Given the description of an element on the screen output the (x, y) to click on. 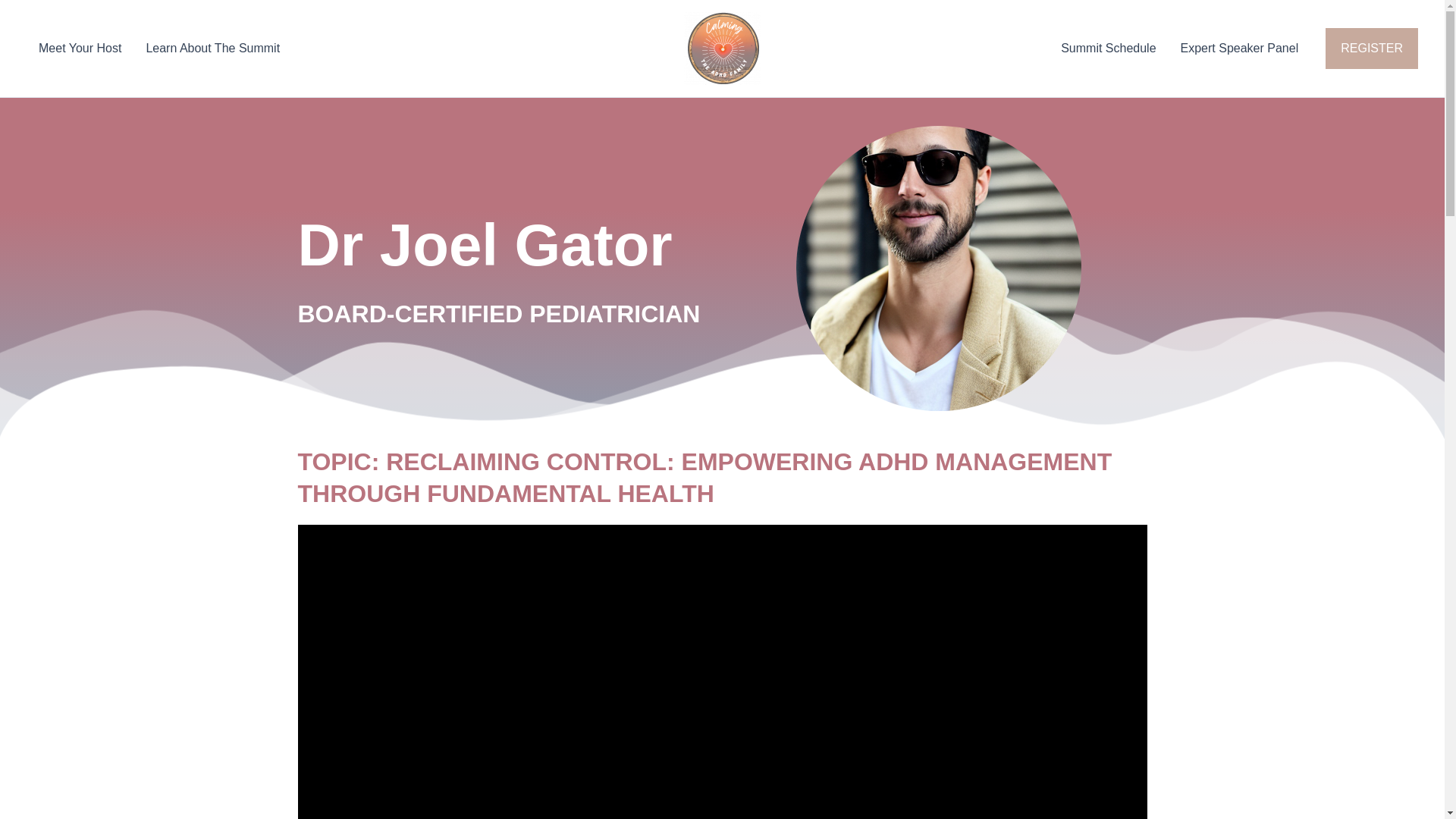
Expert Speaker Panel (1240, 48)
Meet Your Host (79, 48)
Summit Schedule (1107, 48)
REGISTER (1371, 47)
Learn About The Summit (212, 48)
